Given the description of an element on the screen output the (x, y) to click on. 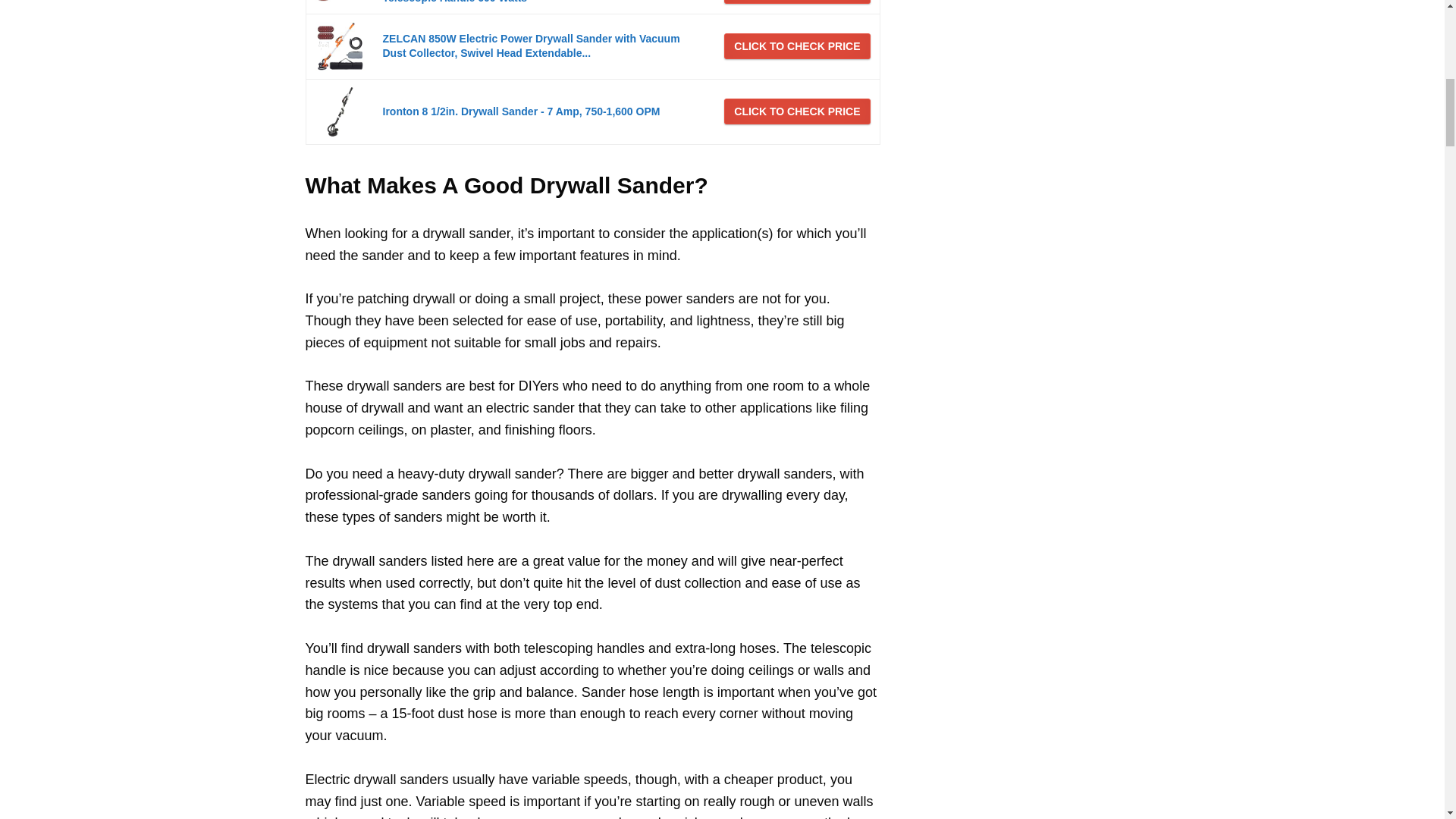
CLICK TO CHECK PRICE (796, 45)
CLICK TO CHECK PRICE (796, 111)
CLICK TO CHECK PRICE (796, 2)
